Given the description of an element on the screen output the (x, y) to click on. 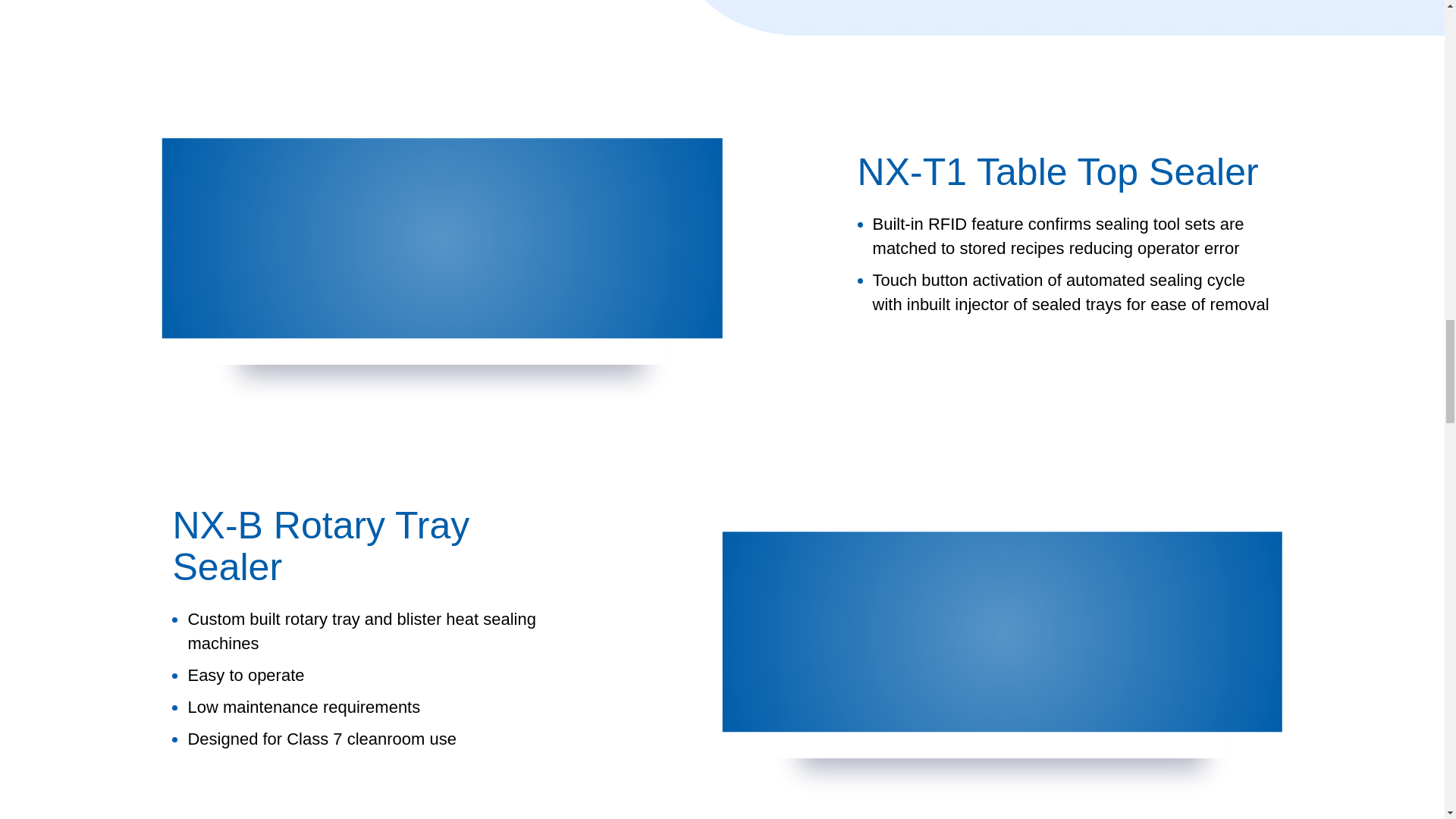
NX-B Rotary Sealer (1002, 632)
